Given the description of an element on the screen output the (x, y) to click on. 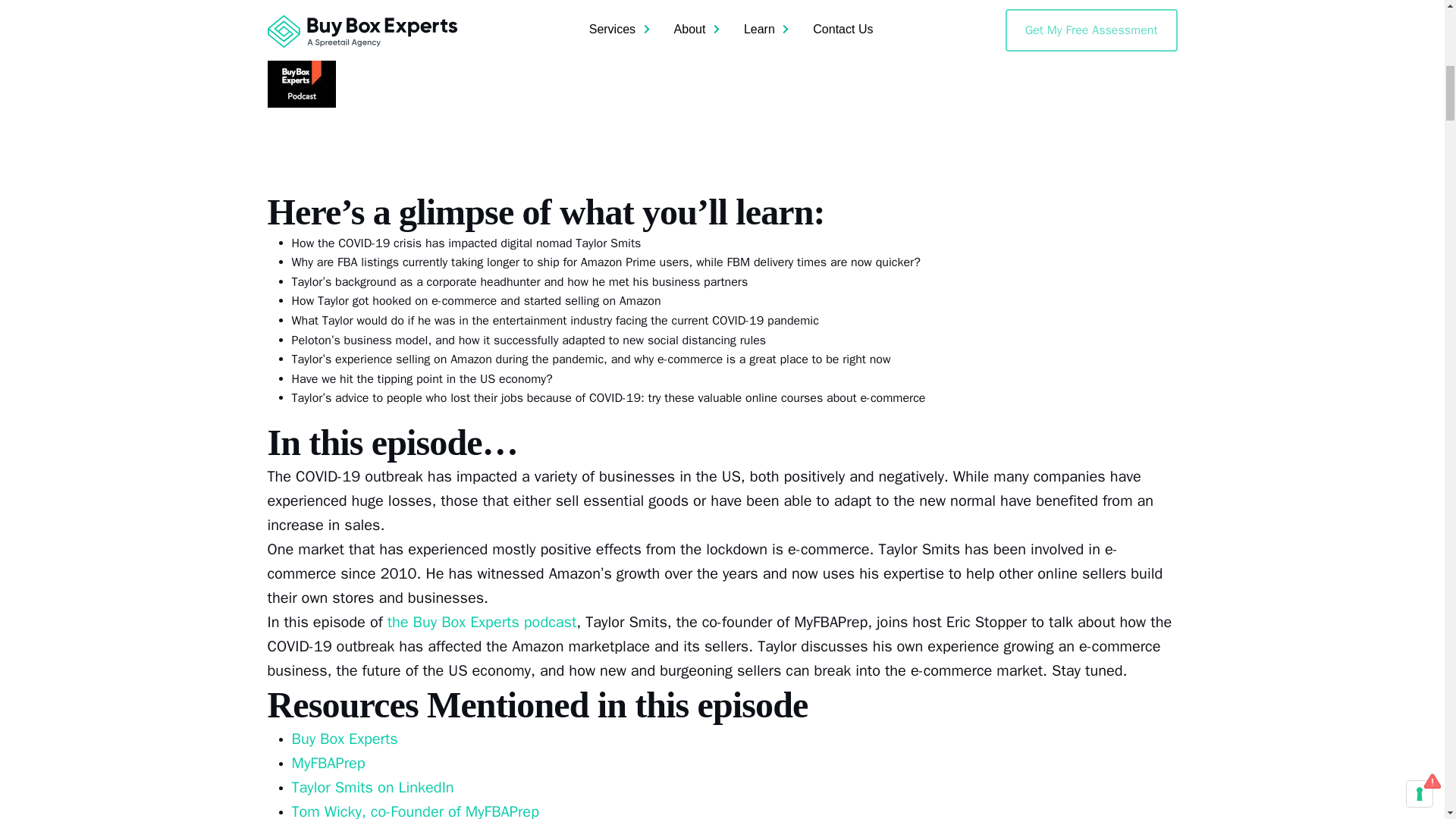
Libsyn Player (721, 73)
Buy Box Experts  (346, 738)
the Buy Box Experts podcast (481, 621)
Tom Wicky, co-Founder of MyFBAPrep  (417, 810)
Taylor Smits on LinkedIn  (374, 787)
MyFBAPrep (328, 763)
